Given the description of an element on the screen output the (x, y) to click on. 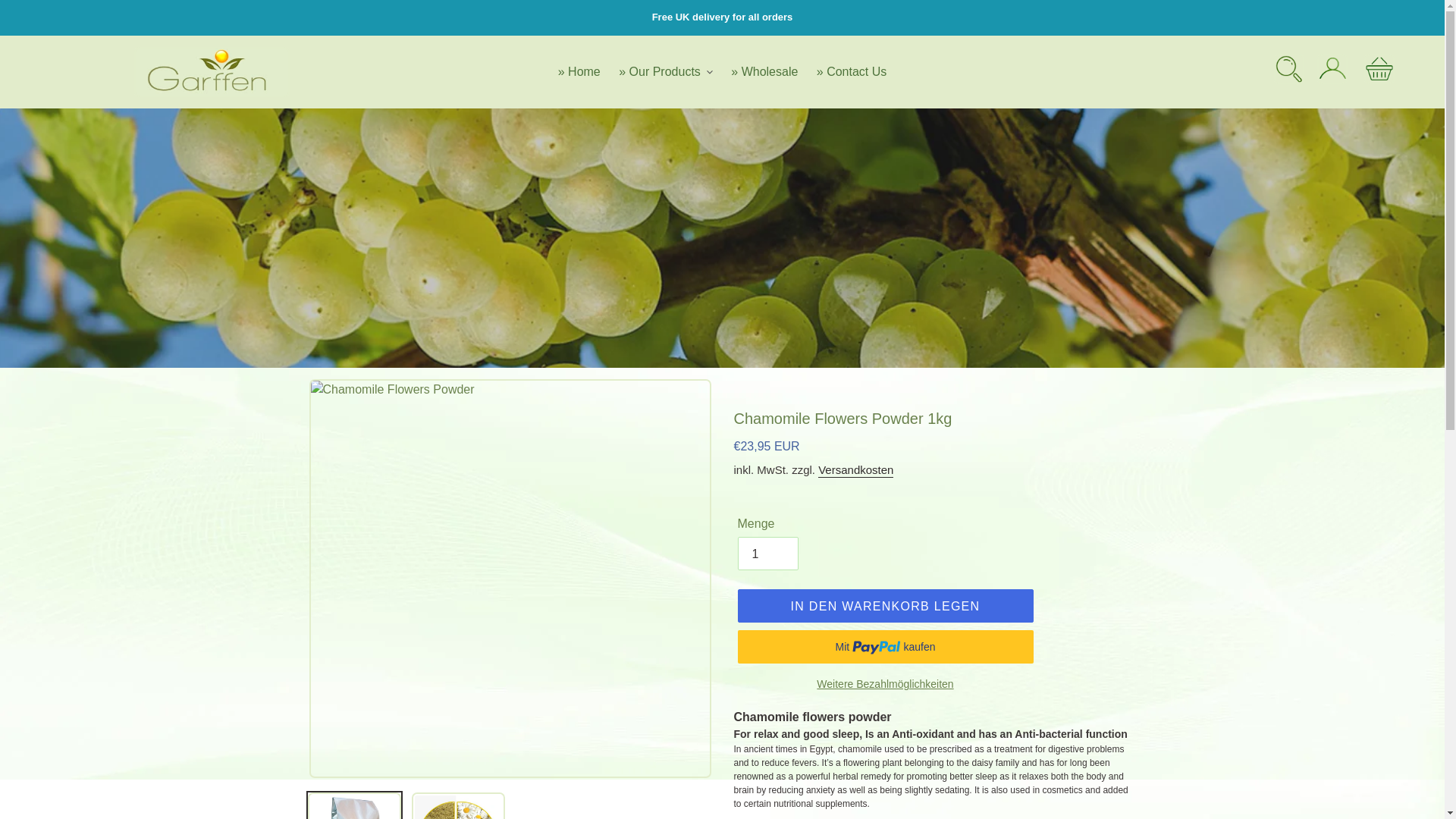
Warenkorb (1379, 70)
Einloggen (1331, 70)
1 (766, 553)
Free UK delivery for all orders (721, 17)
Suchen (1288, 71)
